Given the description of an element on the screen output the (x, y) to click on. 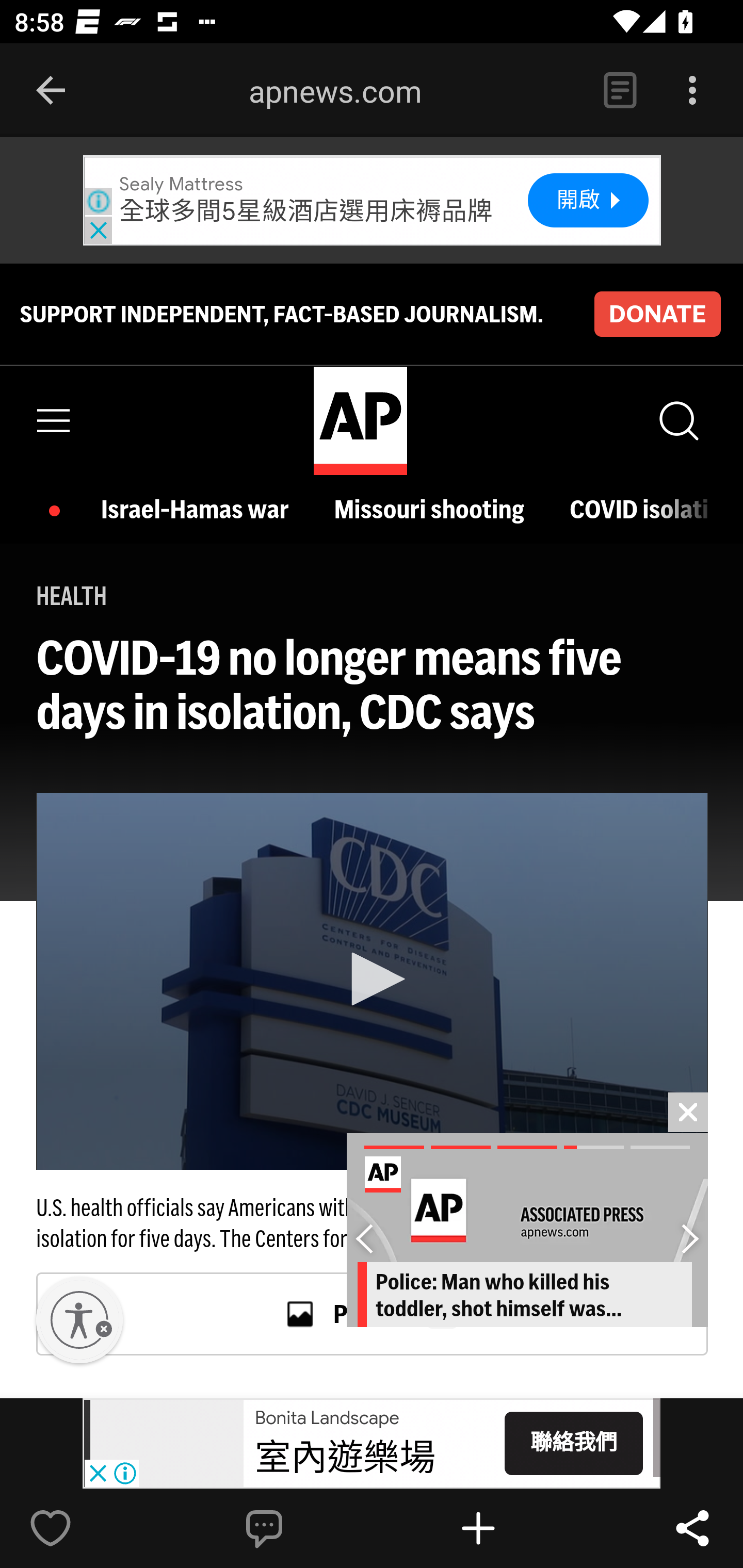
Back (50, 90)
Reader View (619, 90)
Options (692, 90)
Sealy Mattress (180, 185)
開啟 (588, 201)
全球多間5星級酒店選用床褥品牌 (306, 211)
DONATE (657, 313)
home page AP Logo (359, 420)
Menu (54, 419)
Show Search (677, 419)
Israel-Hamas war (200, 509)
Missouri shooting (433, 509)
COVID isolation time (638, 509)
HEALTH (72, 595)
Play (372, 979)
Enable accessibility (79, 1320)
Like (93, 1528)
Write a comment… (307, 1528)
Flip into Magazine (521, 1528)
Share (692, 1528)
